Given the description of an element on the screen output the (x, y) to click on. 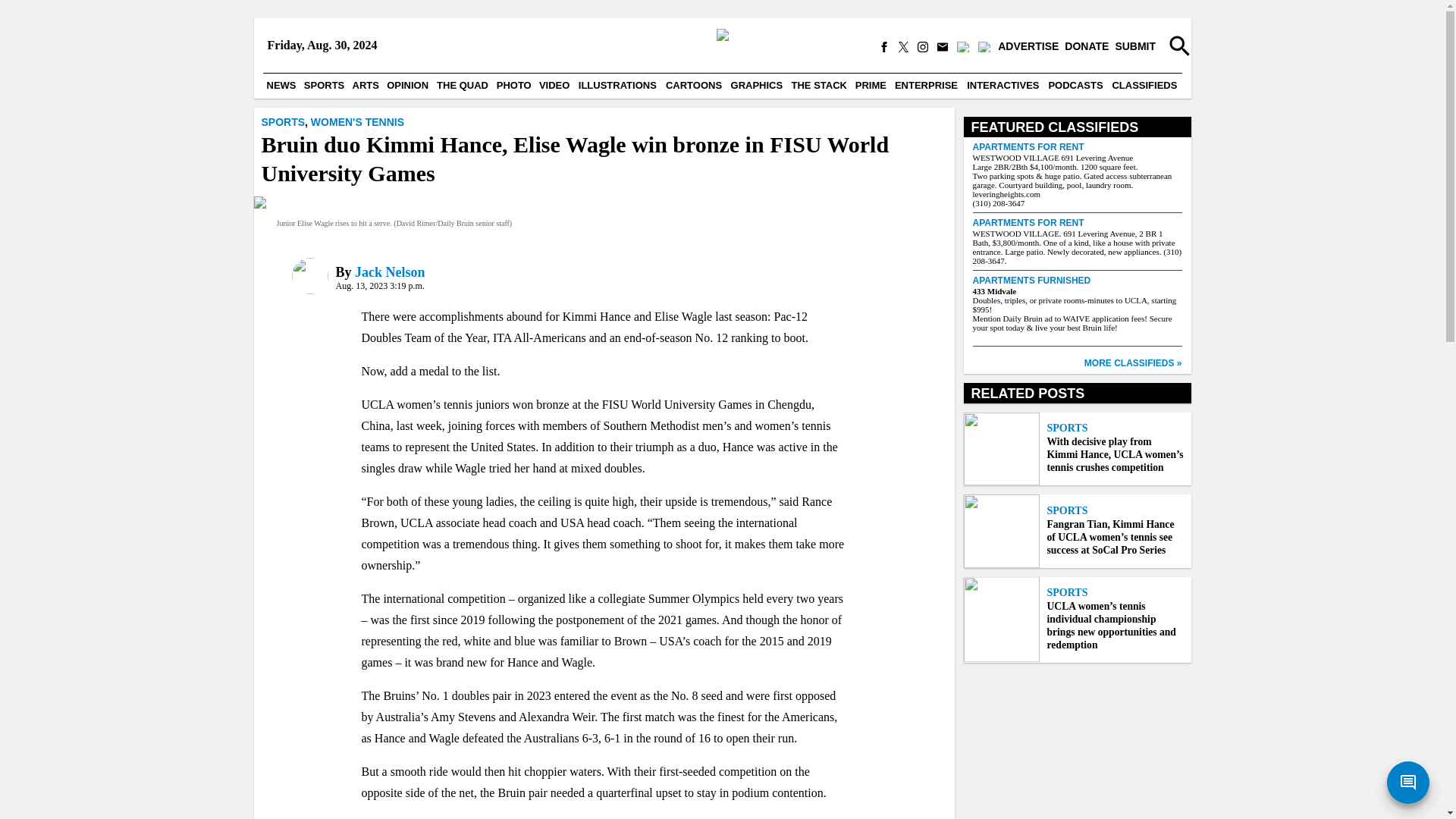
ENTERPRISE (925, 85)
ADVERTISE (1027, 46)
PHOTO (514, 85)
THE QUAD (462, 85)
ARTS (365, 85)
NEWS (280, 85)
INTERACTIVES (1002, 85)
SUBMIT (1135, 46)
SPORTS (324, 85)
CARTOONS (693, 85)
